Given the description of an element on the screen output the (x, y) to click on. 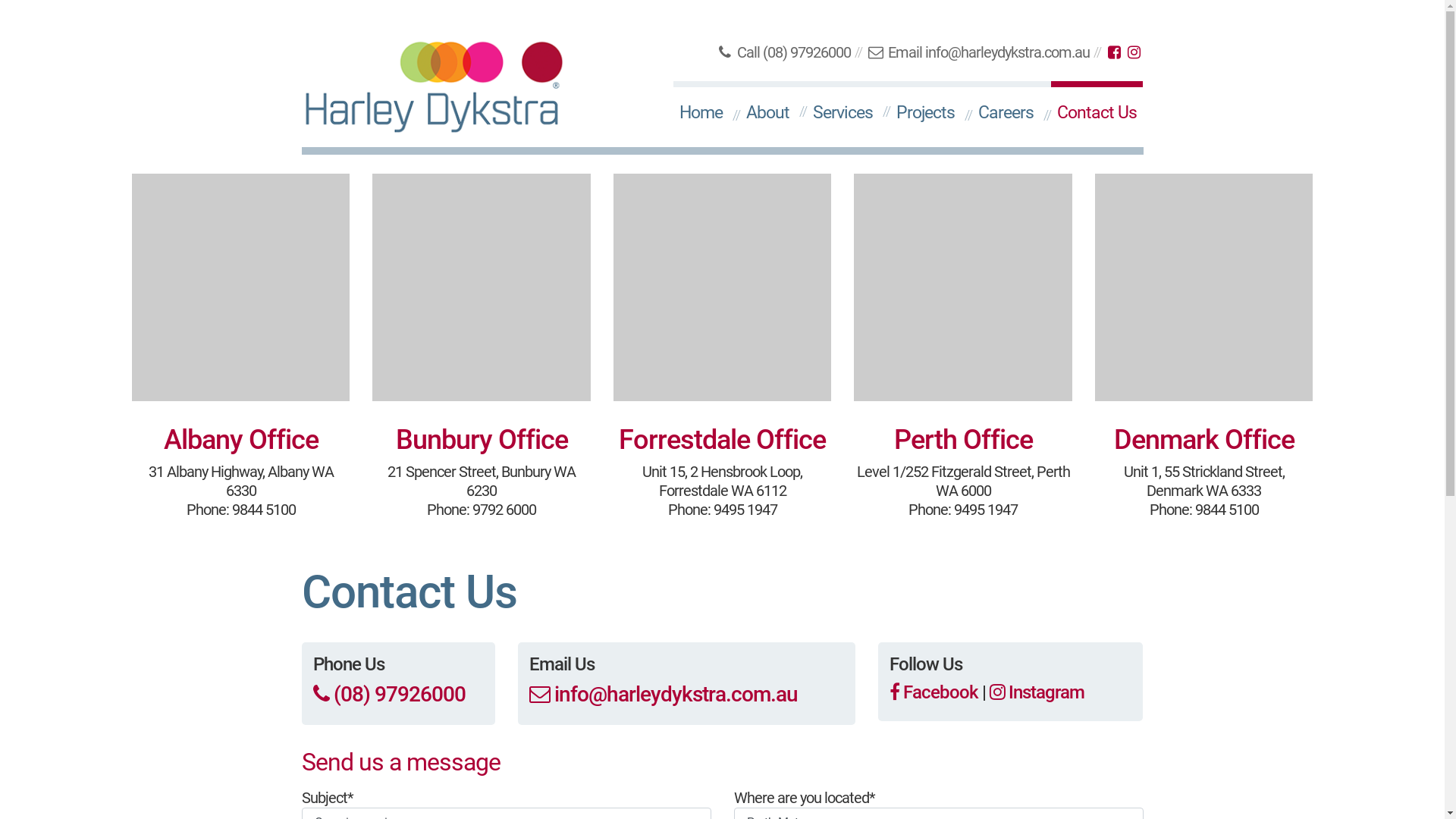
Contact Us Element type: text (1096, 111)
About Element type: text (767, 111)
Careers Element type: text (1005, 111)
Services Element type: text (842, 111)
Home Element type: text (700, 111)
Facebook Element type: text (932, 691)
info@harleydykstra.com.au Element type: text (663, 693)
info@harleydykstra.com.au Element type: text (1007, 52)
Projects Element type: text (925, 111)
(08) 97926000 Element type: text (806, 52)
(08) 97926000 Element type: text (388, 693)
Instagram Element type: text (1035, 691)
